Given the description of an element on the screen output the (x, y) to click on. 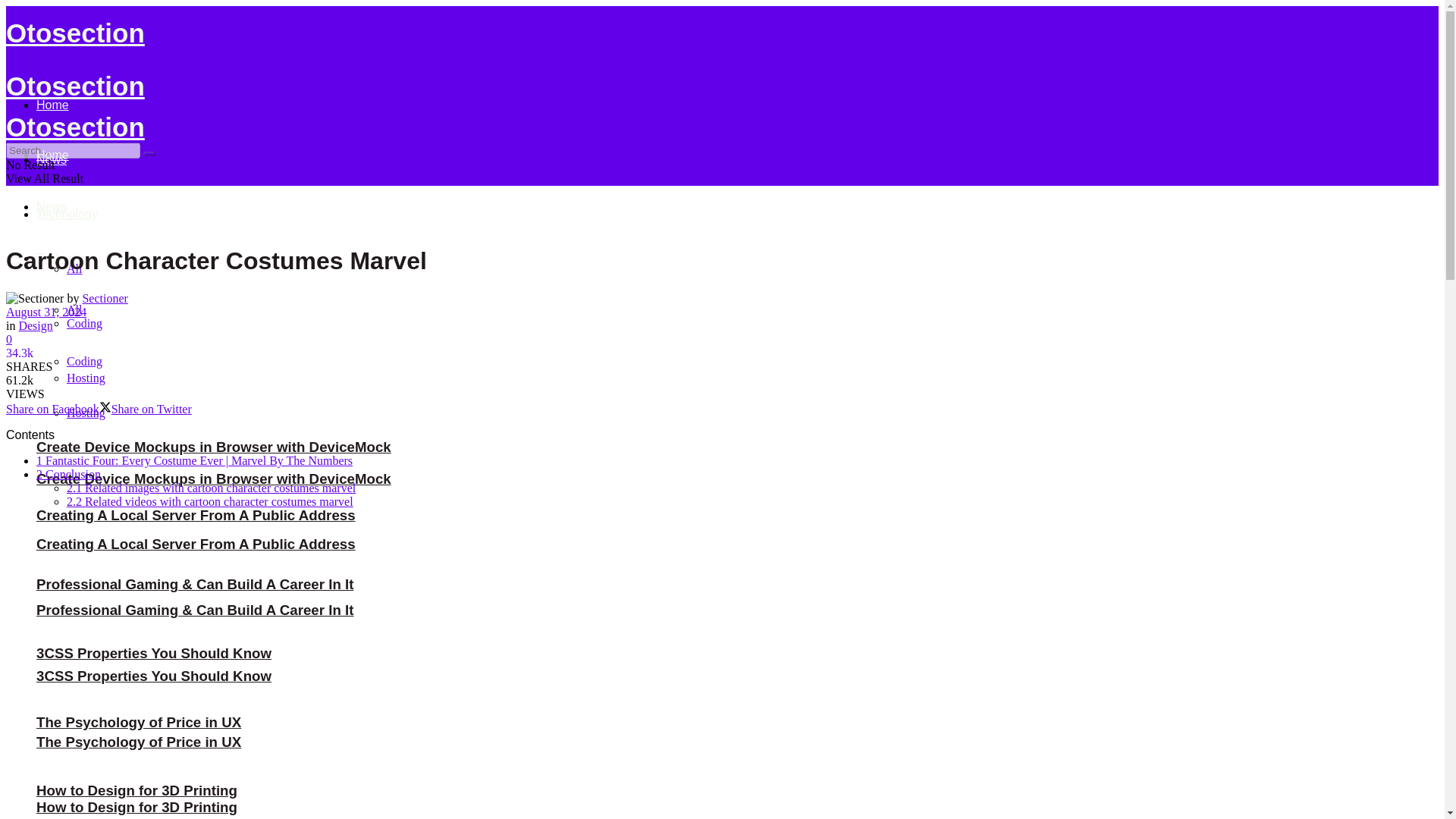
News (51, 159)
All (73, 268)
Technology (66, 214)
Hosting (85, 377)
Create Device Mockups in Browser with DeviceMock (213, 446)
Home (52, 104)
How to Design for 3D Printing (136, 790)
Coding (83, 323)
3CSS Properties You Should Know (153, 652)
Otosection (74, 32)
